Given the description of an element on the screen output the (x, y) to click on. 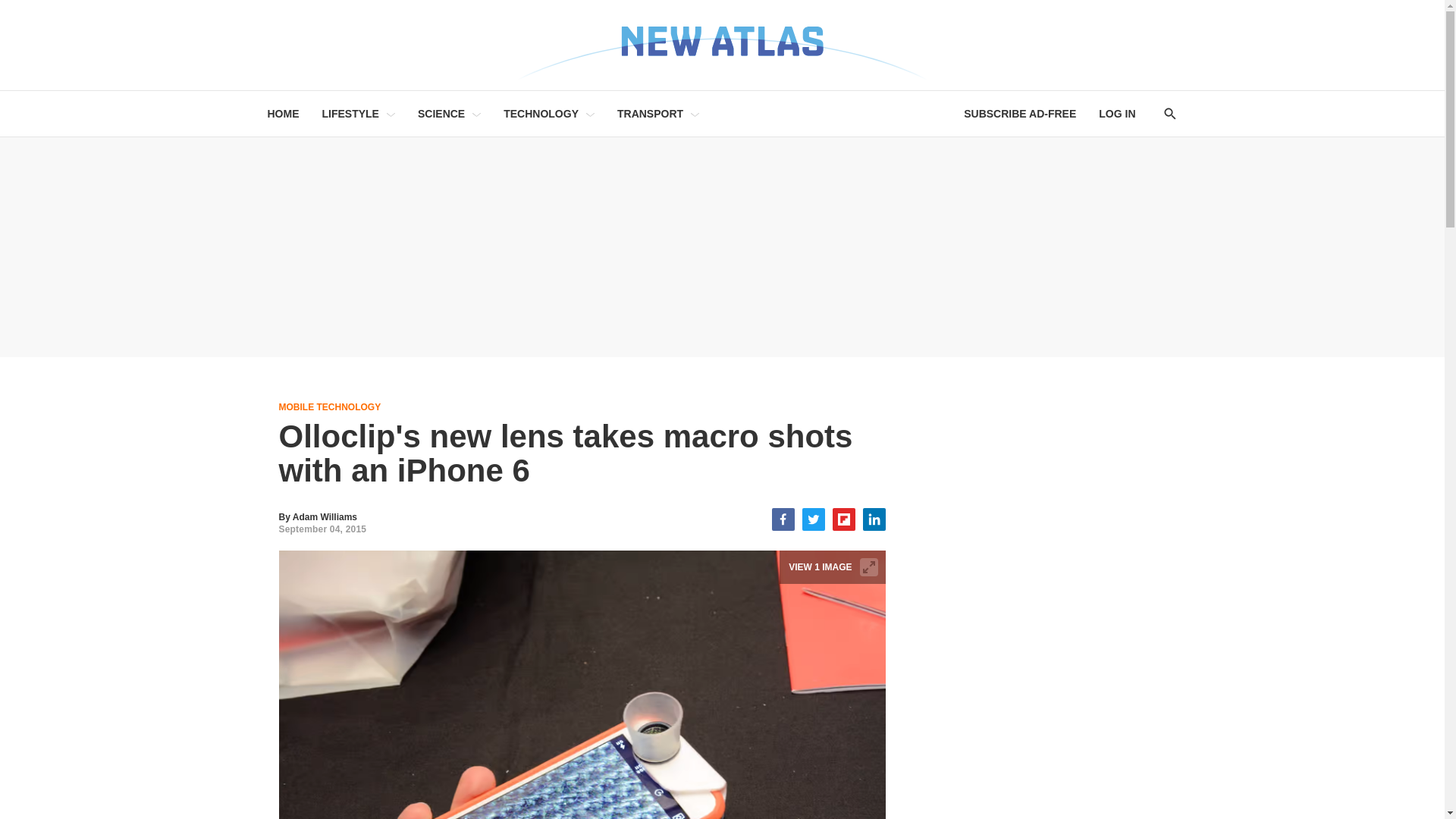
View full-screen (868, 566)
